Given the description of an element on the screen output the (x, y) to click on. 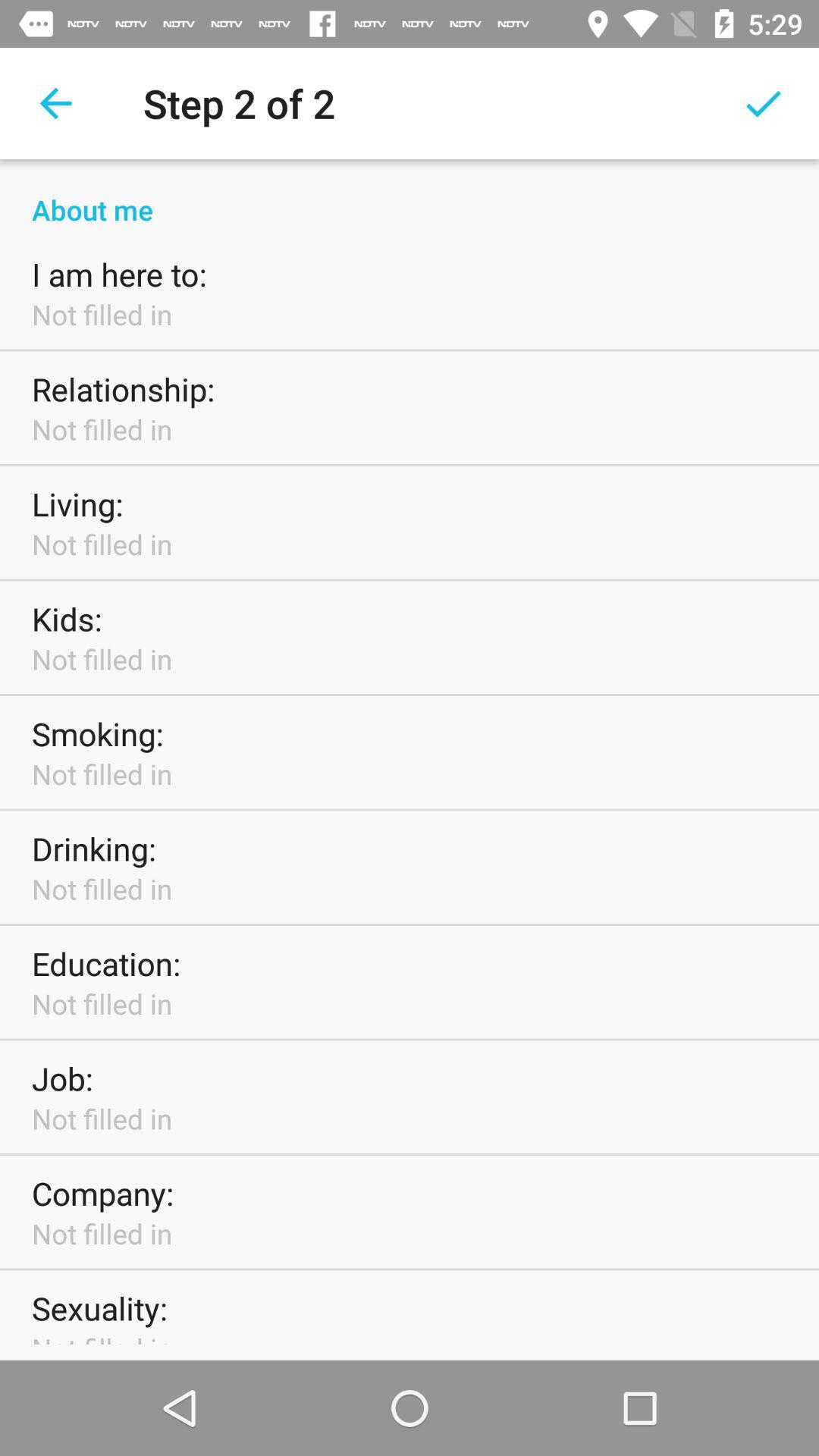
press icon above about me item (763, 103)
